Given the description of an element on the screen output the (x, y) to click on. 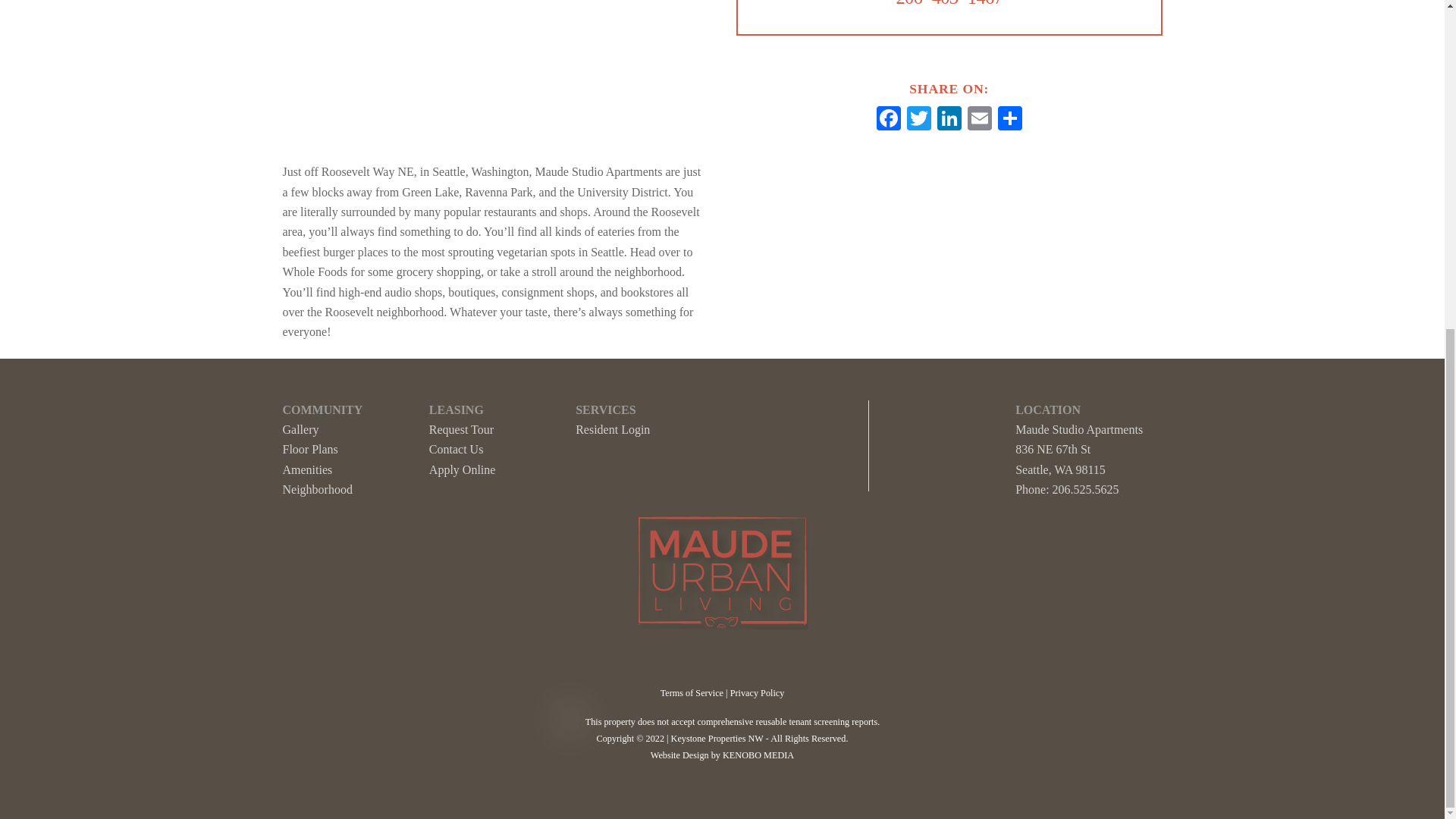
Facebook (888, 120)
Maude Seattle (722, 624)
Resident Login (612, 429)
Twitter (919, 120)
Twitter (919, 120)
LinkedIn (948, 120)
Apply Online (462, 469)
Request Tour (461, 429)
Gallery (300, 429)
Email (978, 120)
Floor Plans (309, 449)
Email (978, 120)
Maude Seattle (722, 572)
KENOBO MEDIA (757, 755)
Facebook (888, 120)
